Given the description of an element on the screen output the (x, y) to click on. 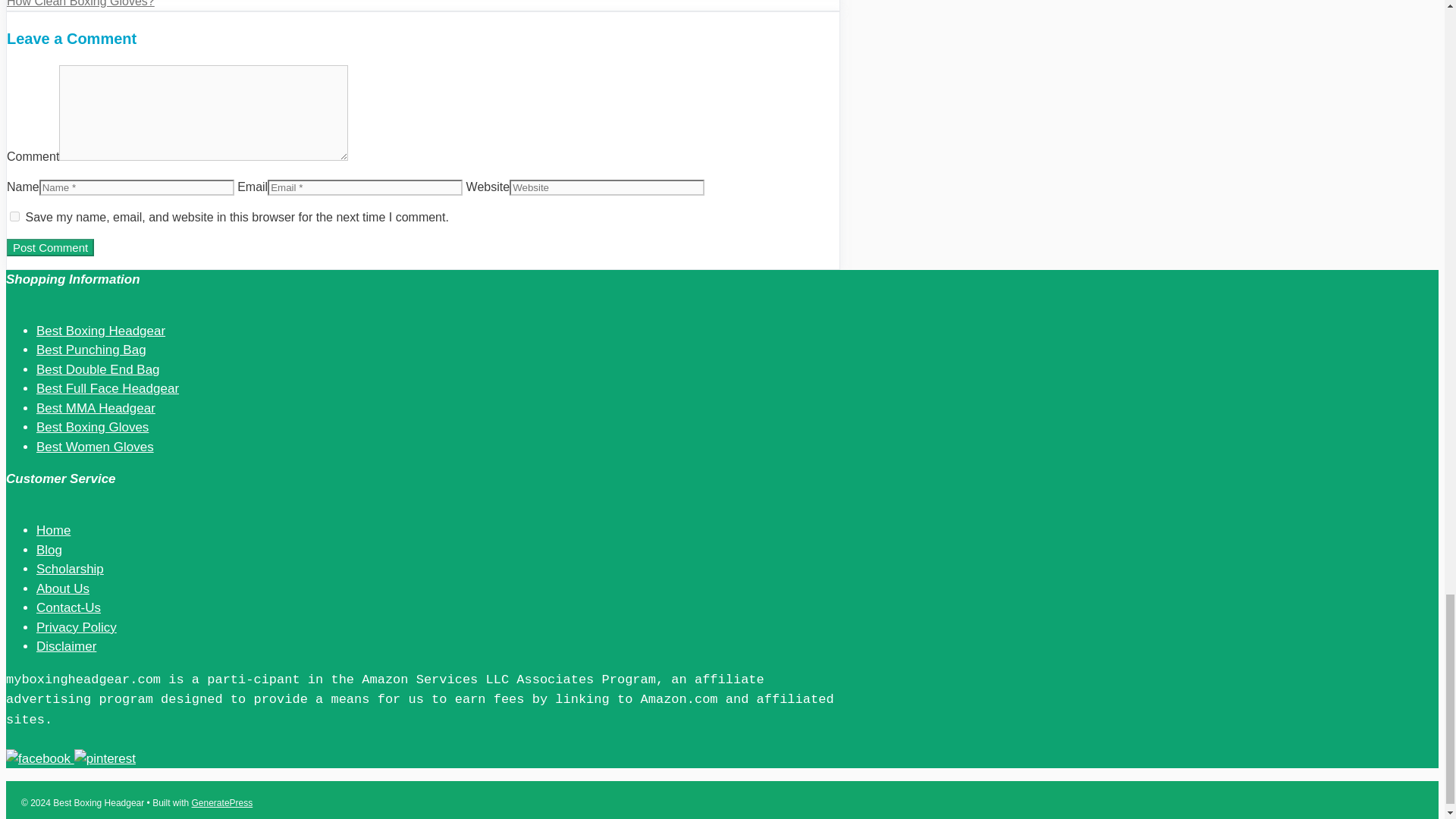
Contact-Us (68, 607)
Best MMA Headgear (95, 408)
Post Comment (50, 247)
Best Boxing Headgear (100, 330)
Home (52, 530)
Scholarship (69, 568)
Best Double End Bag (98, 369)
How Clean Boxing Gloves? (80, 3)
Blog (49, 549)
yes (15, 216)
Best Full Face Headgear (107, 388)
Best Boxing Gloves (92, 427)
Best Women Gloves (95, 446)
Best Punching Bag (91, 350)
Privacy Policy (76, 626)
